Given the description of an element on the screen output the (x, y) to click on. 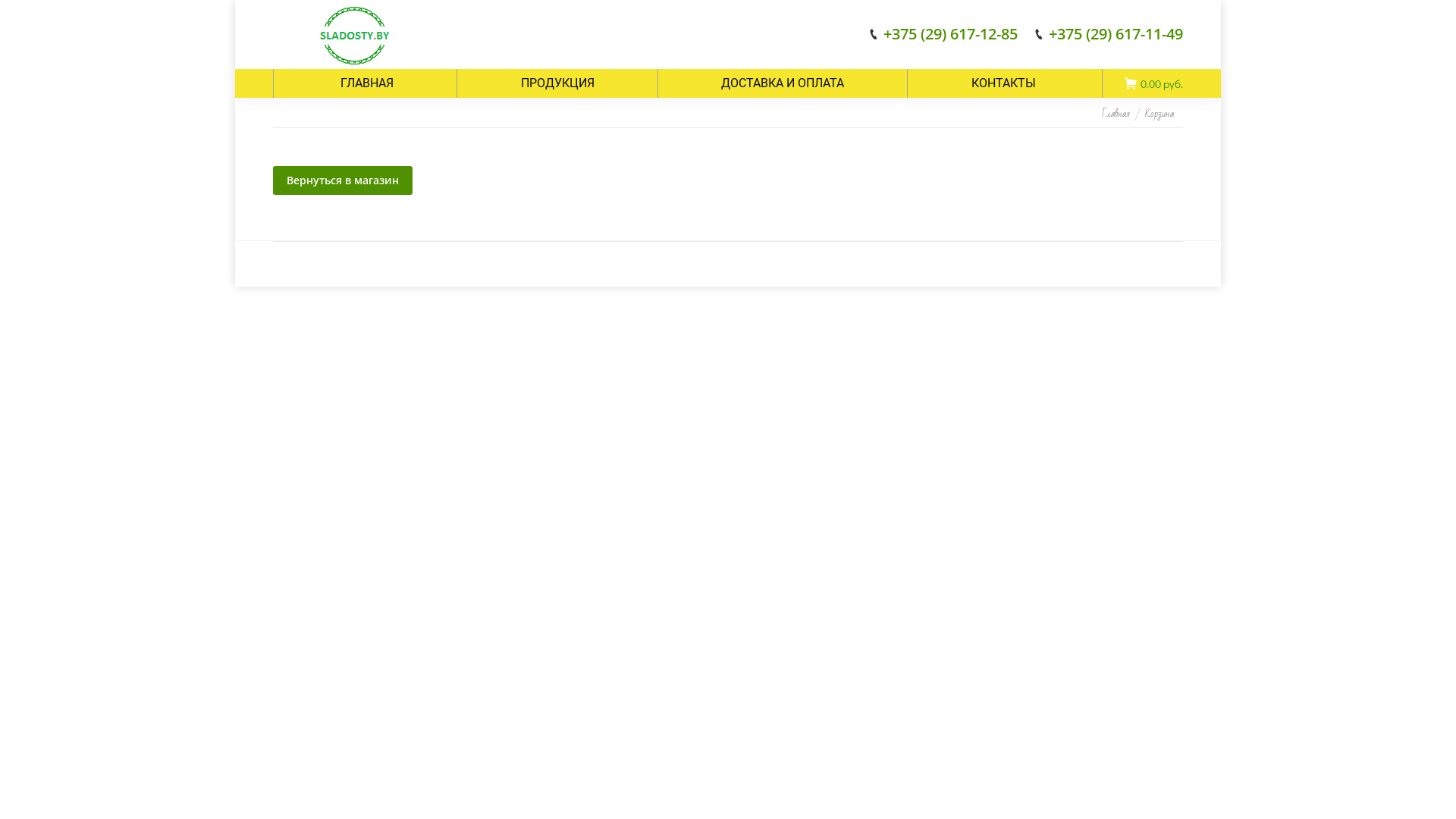
+375 (29) 617-12-85 Element type: text (950, 33)
+375 (29) 617-11-49 Element type: text (1115, 33)
